Given the description of an element on the screen output the (x, y) to click on. 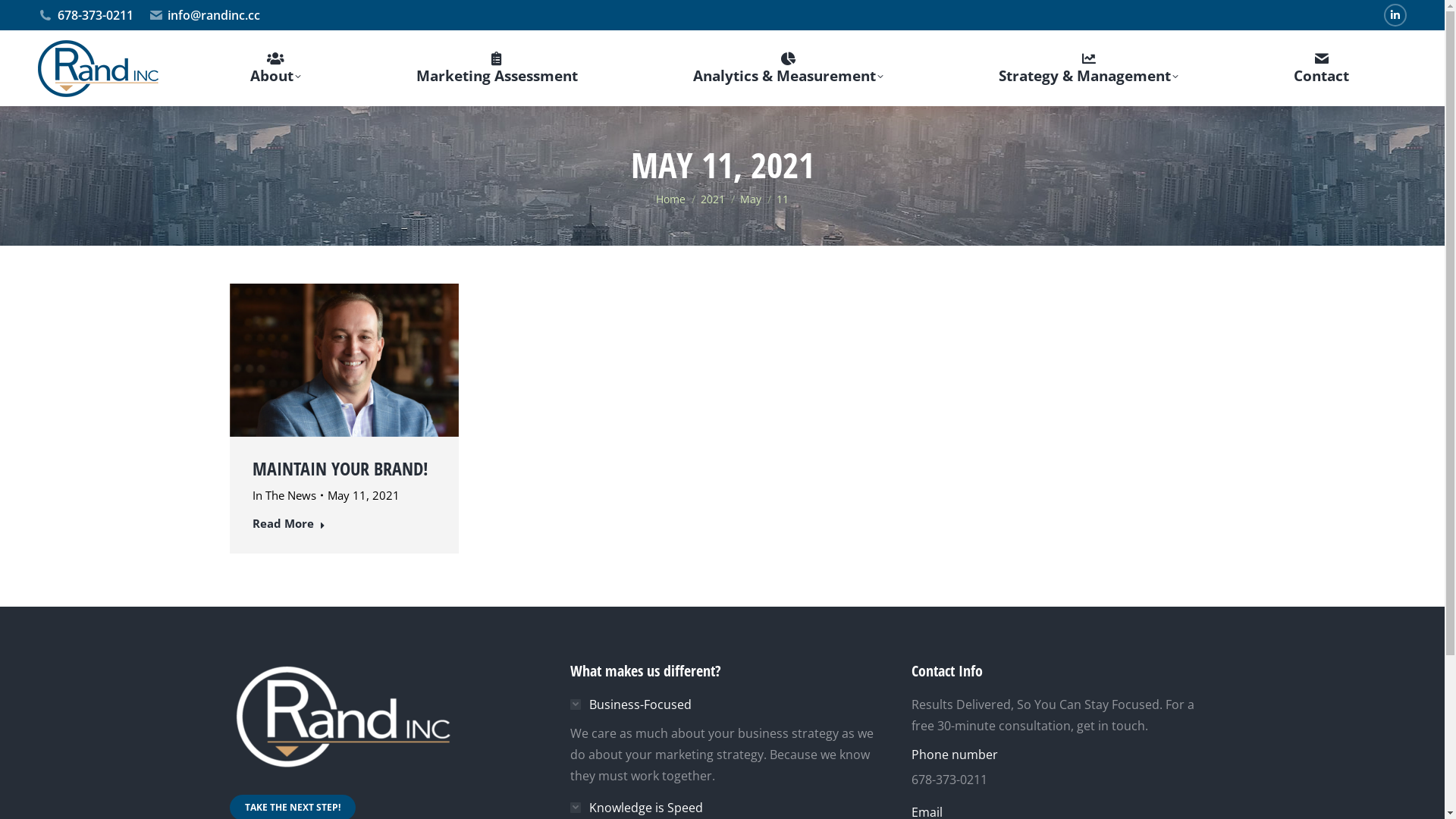
Marketing Assessment Element type: text (496, 68)
About Element type: text (274, 68)
Read More Element type: text (287, 526)
info@randinc.cc Element type: text (204, 14)
Strategy & Management Element type: text (1088, 68)
May Element type: text (750, 198)
In The News Element type: text (283, 495)
Business-Focused Element type: text (630, 704)
May 11, 2021 Element type: text (363, 495)
Knowledge is Speed Element type: text (636, 807)
Analytics & Measurement Element type: text (787, 68)
Contact Element type: text (1321, 68)
Home Element type: text (670, 198)
RAND INC-930sm Element type: hover (343, 359)
Linkedin page opens in new window Element type: text (1394, 14)
678-373-0211 Element type: text (85, 14)
MAINTAIN YOUR BRAND! Element type: text (339, 467)
2021 Element type: text (712, 198)
